Given the description of an element on the screen output the (x, y) to click on. 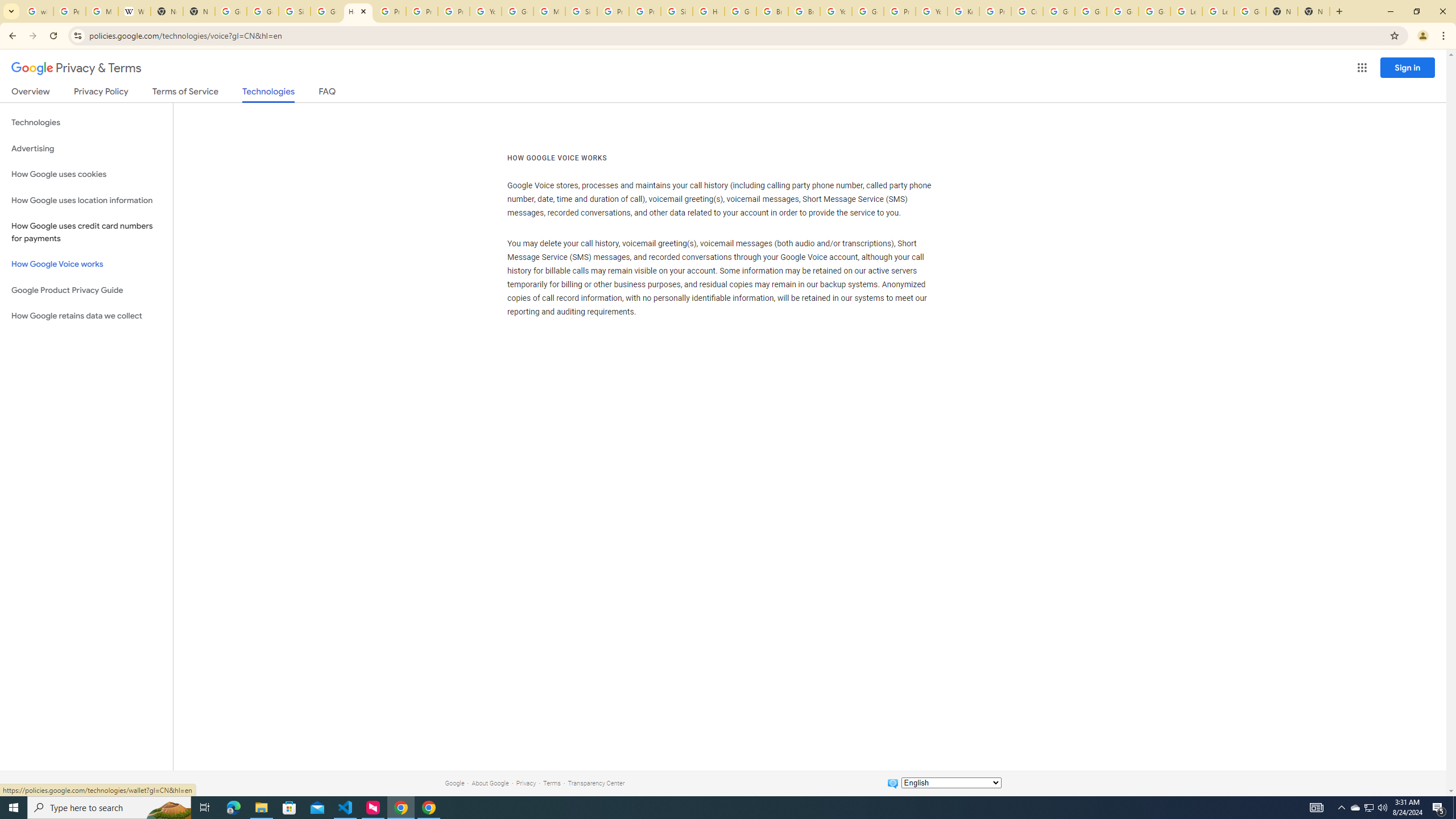
Google Account Help (1091, 11)
Sign in - Google Accounts (676, 11)
How Google uses cookies (86, 174)
